Given the description of an element on the screen output the (x, y) to click on. 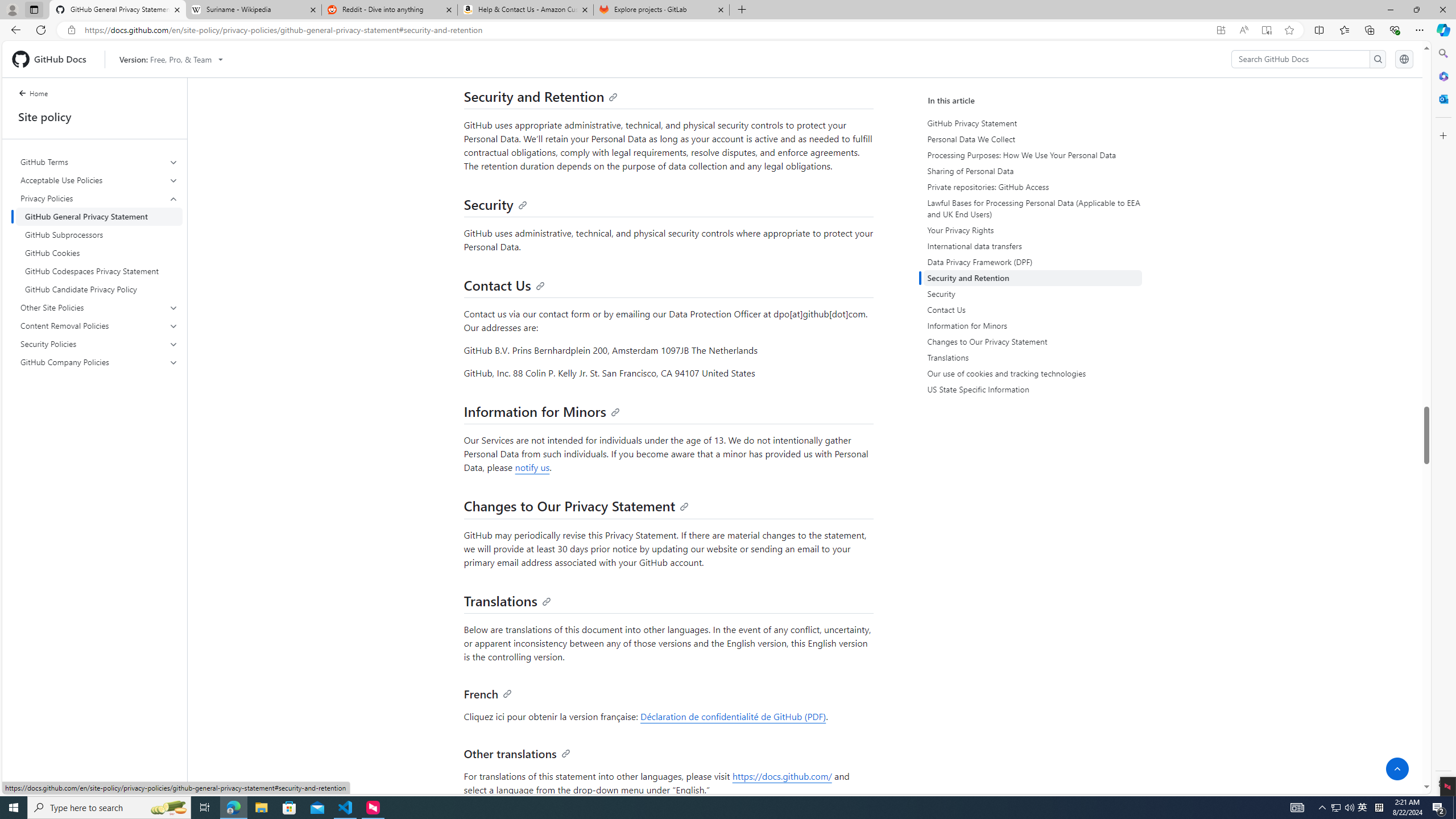
Security Policies (99, 343)
Security (495, 203)
GitHub Cookies (99, 253)
US State Specific Information (1032, 389)
Information for Minors (1032, 325)
GitHub General Privacy Statement - GitHub Docs (117, 9)
Processing Purposes: How We Use Your Personal Data (1034, 154)
Contact Us (1032, 309)
GitHub Terms (99, 162)
